Given the description of an element on the screen output the (x, y) to click on. 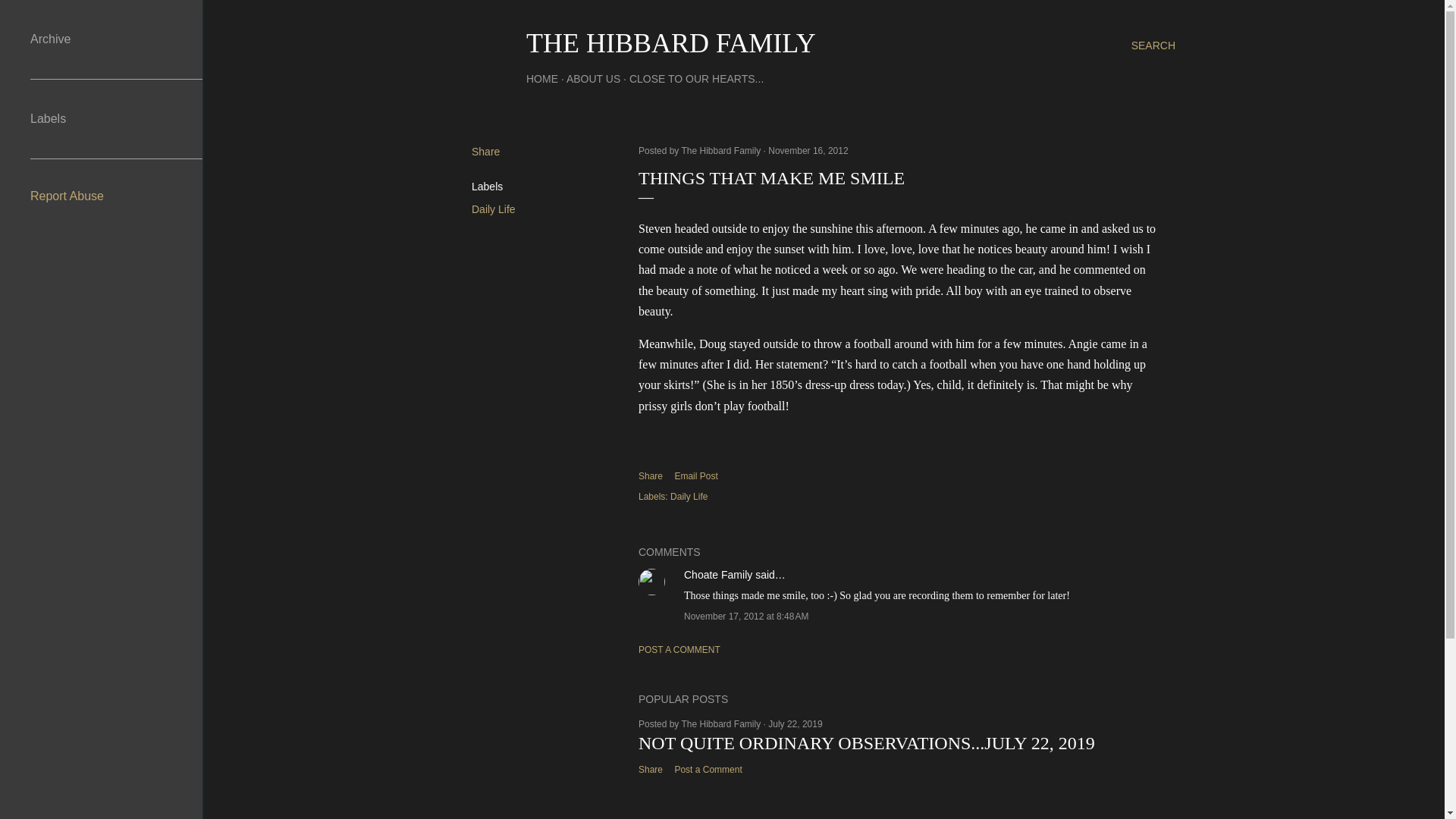
The Hibbard Family (721, 724)
Post a Comment (707, 769)
POST A COMMENT (679, 649)
July 22, 2019 (795, 724)
Share (650, 475)
comment permalink (746, 615)
THE HIBBARD FAMILY (670, 42)
CLOSE TO OUR HEARTS... (695, 78)
permanent link (807, 150)
Email Post (695, 476)
